Given the description of an element on the screen output the (x, y) to click on. 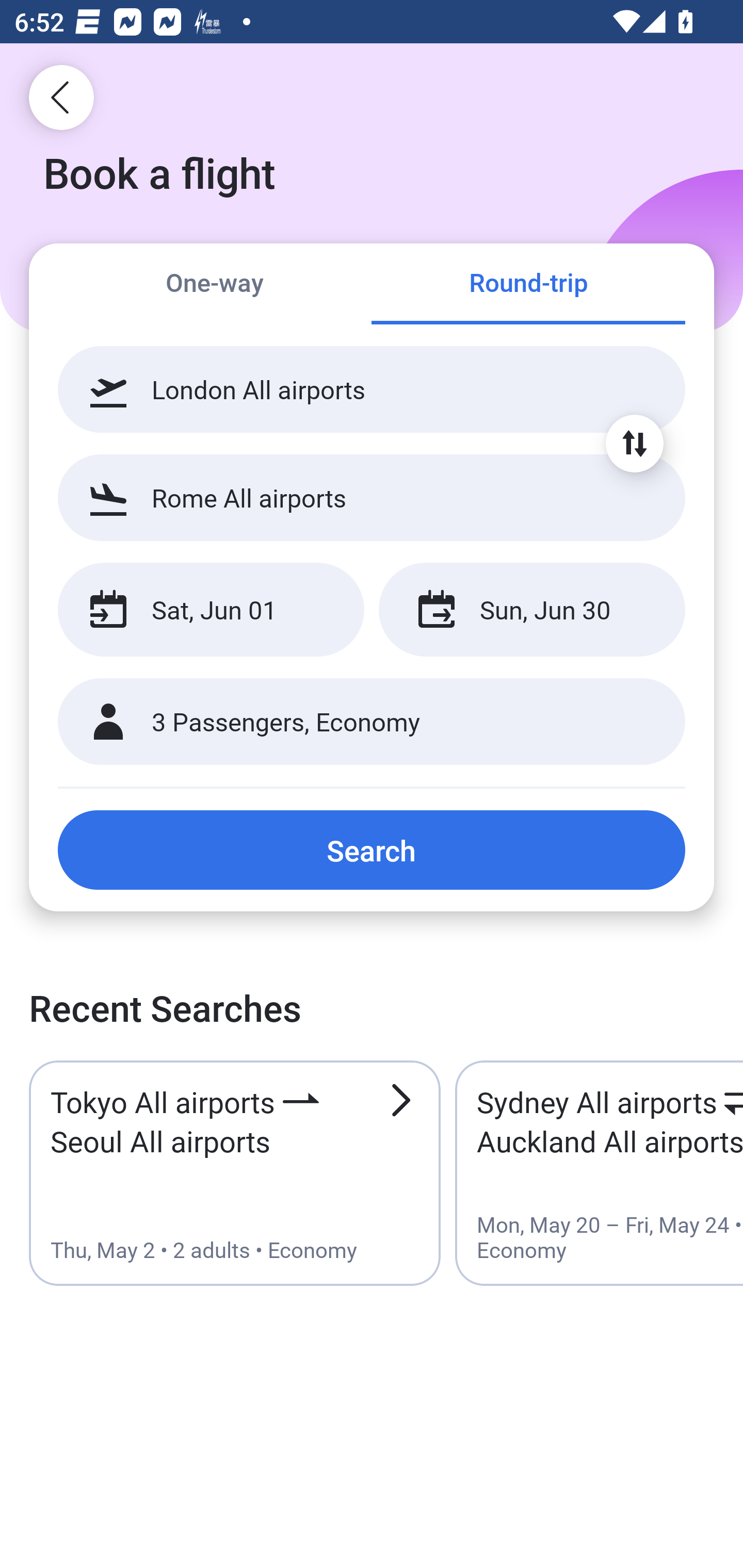
One-way (214, 284)
London All airports (371, 389)
Rome All airports (371, 497)
Sat, Jun 01 (210, 609)
Sun, Jun 30 (531, 609)
3 Passengers, Economy (371, 721)
Search (371, 849)
